Given the description of an element on the screen output the (x, y) to click on. 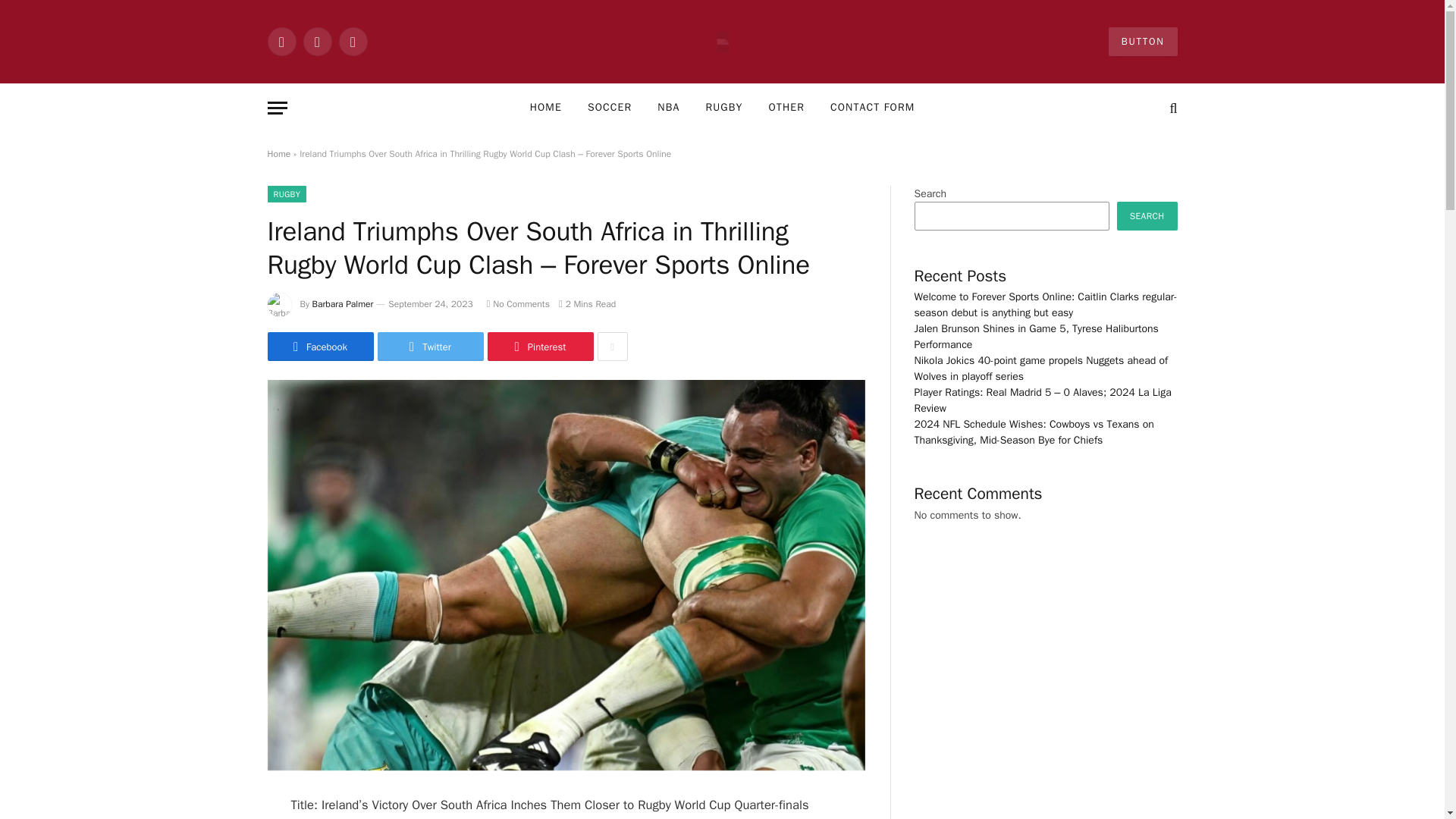
Pinterest (539, 346)
NBA (669, 107)
Barbara Palmer (343, 304)
SOCCER (610, 107)
OTHER (785, 107)
Share on Pinterest (539, 346)
Facebook (319, 346)
Facebook (280, 41)
No Comments (518, 304)
CONTACT FORM (871, 107)
BUTTON (1142, 41)
Home (277, 153)
Twitter (430, 346)
Instagram (351, 41)
RUGBY (724, 107)
